Given the description of an element on the screen output the (x, y) to click on. 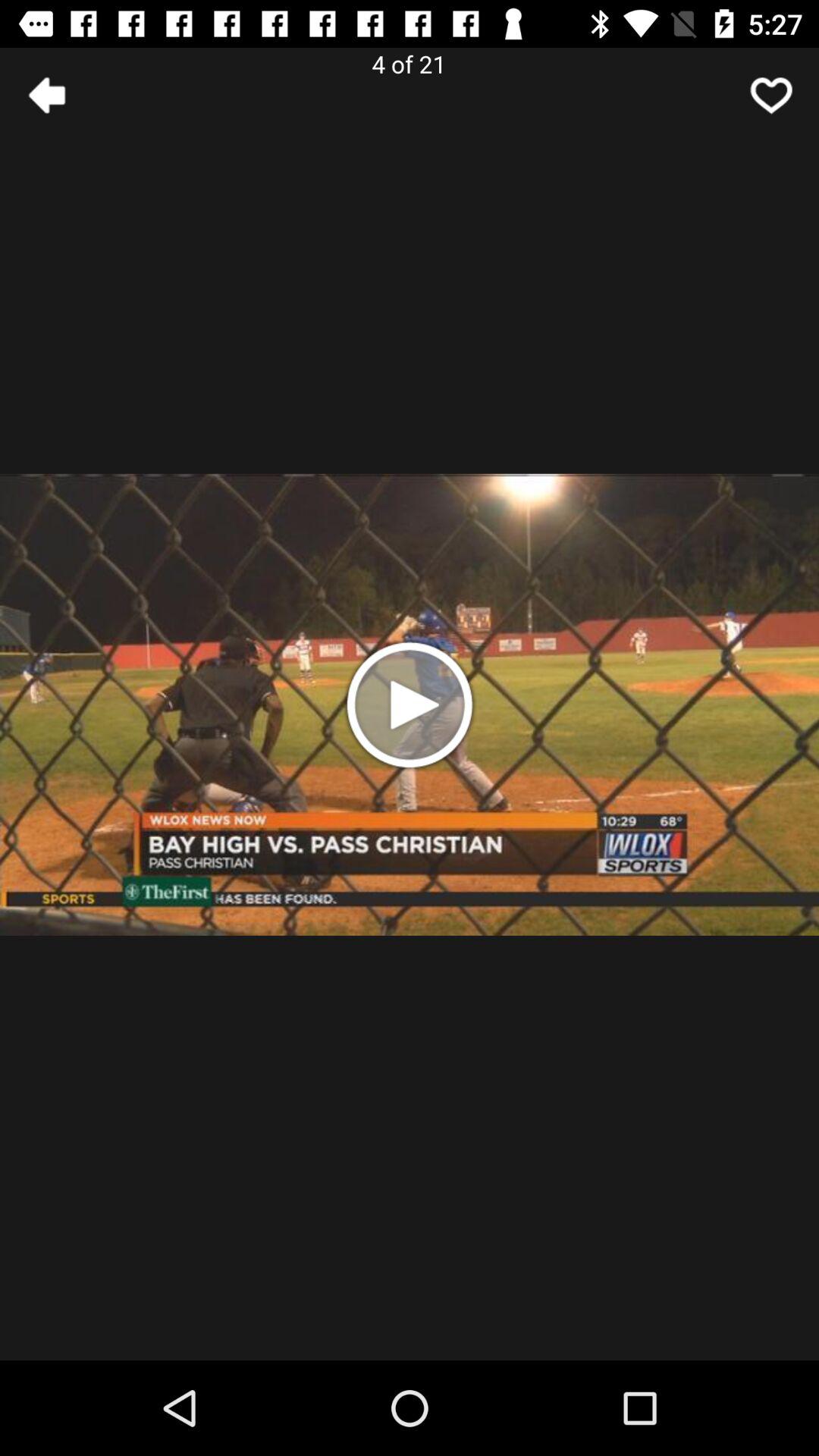
go to previous (47, 95)
